Given the description of an element on the screen output the (x, y) to click on. 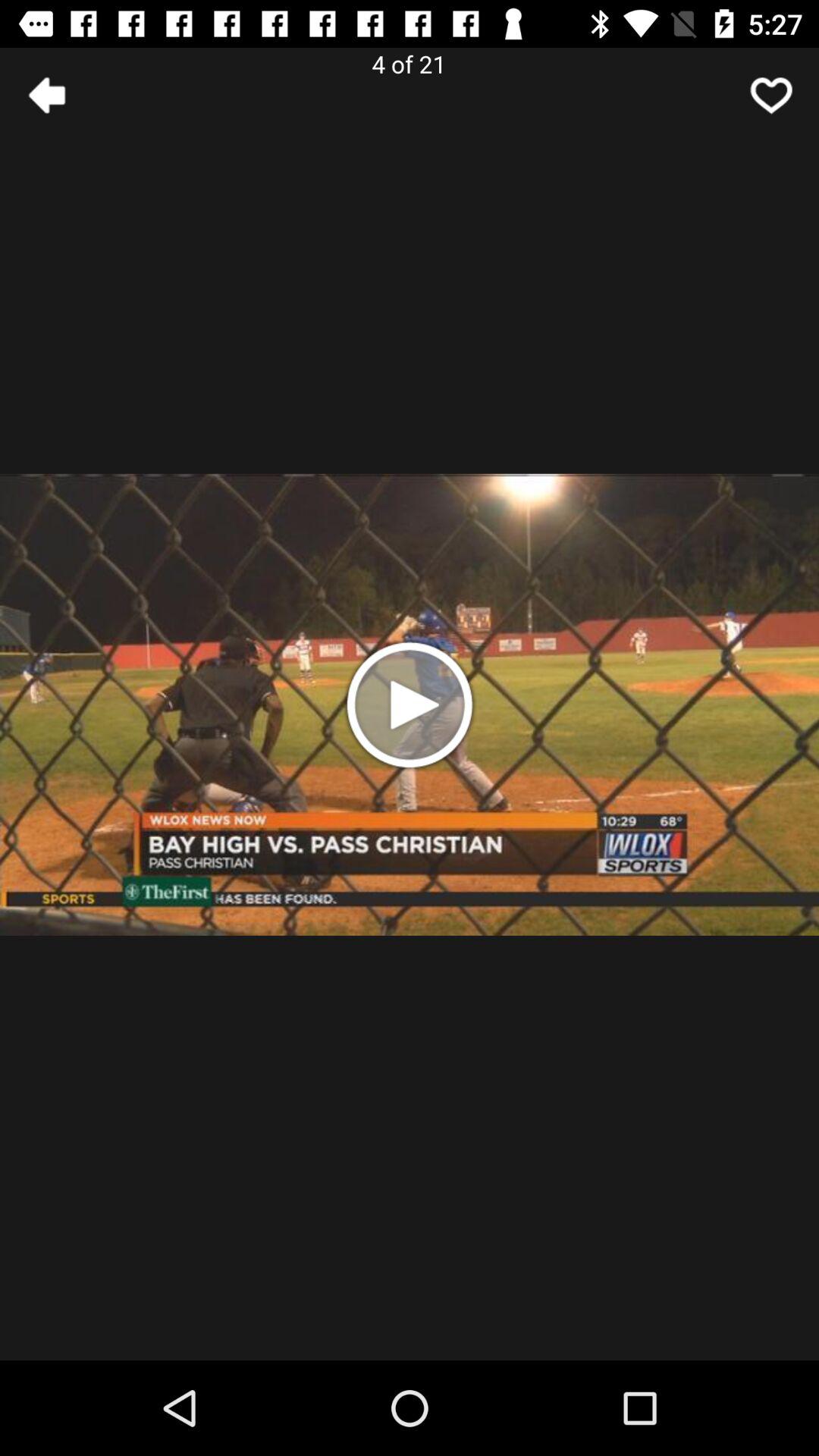
go to previous (47, 95)
